Given the description of an element on the screen output the (x, y) to click on. 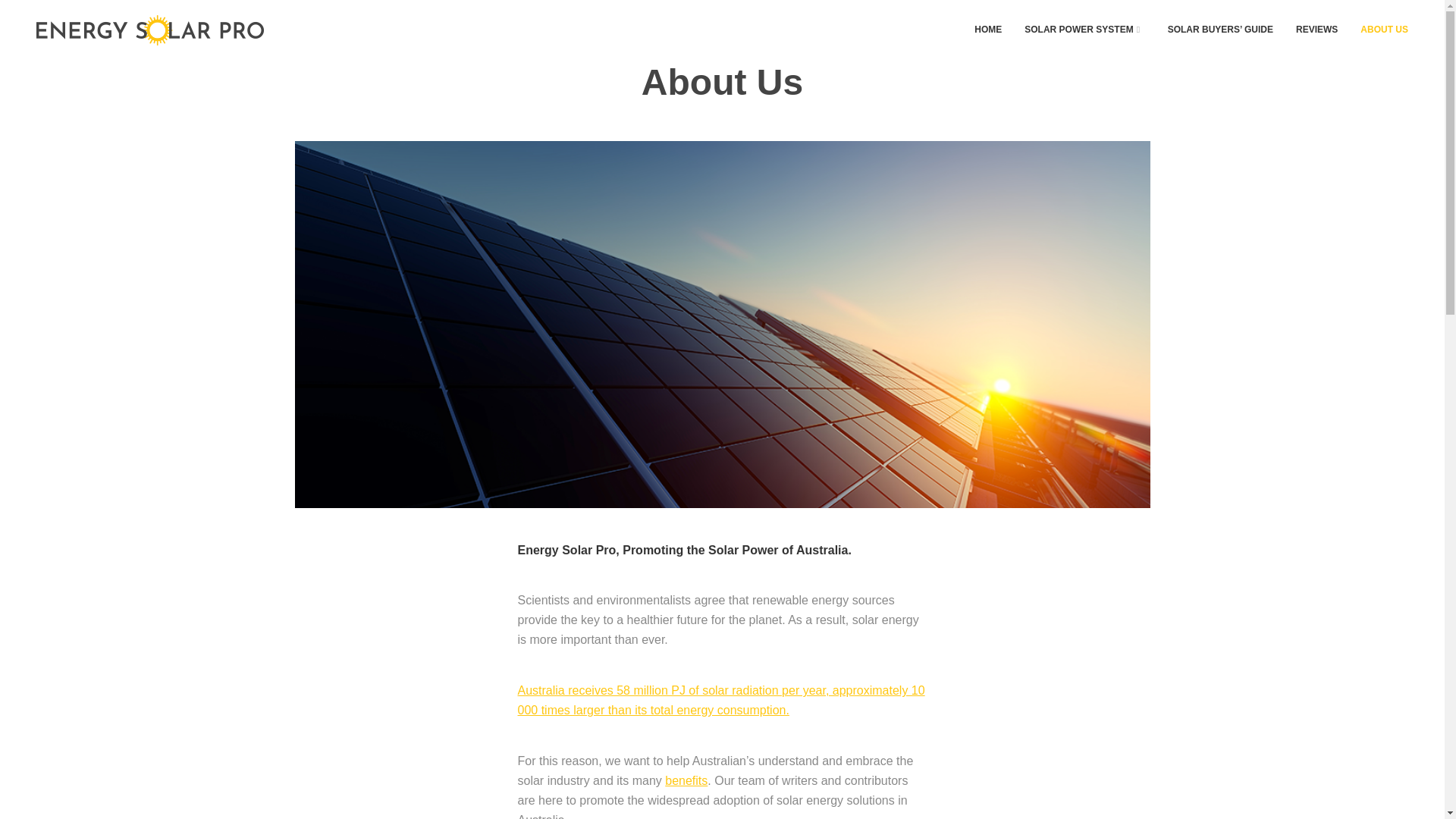
HOME (987, 30)
REVIEWS (1316, 30)
benefits (686, 780)
ABOUT US (1383, 30)
SOLAR POWER SYSTEM (1084, 30)
